Given the description of an element on the screen output the (x, y) to click on. 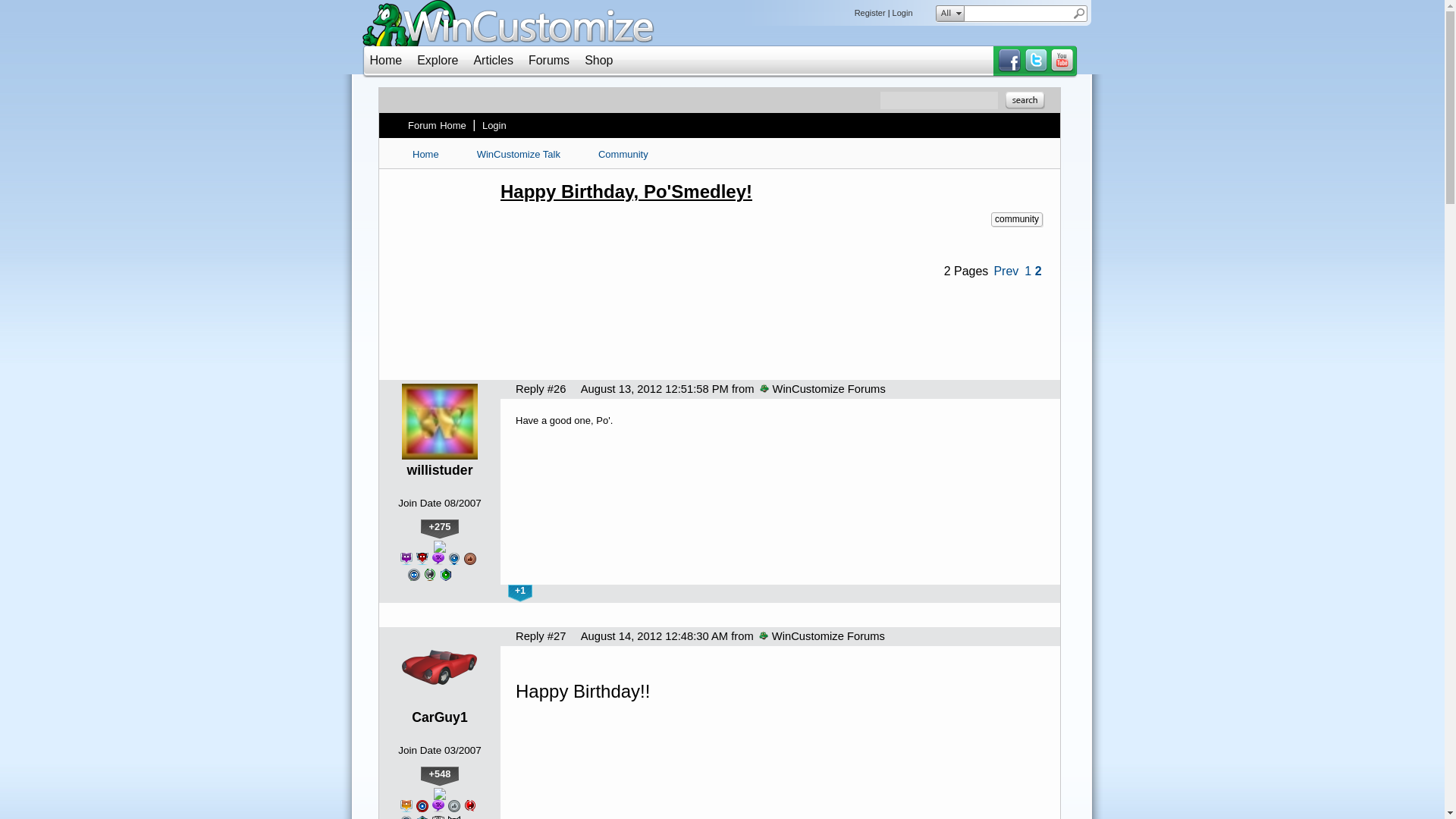
Forums (548, 60)
community (1016, 219)
WinCustomize Talk (518, 154)
Register (869, 12)
all (946, 13)
Login (493, 125)
Click to view original post (771, 191)
Forum Home (436, 125)
Home (425, 154)
Community (622, 154)
query (1018, 14)
Shop (598, 60)
Articles (492, 60)
Home (386, 60)
Explore (437, 60)
